Given the description of an element on the screen output the (x, y) to click on. 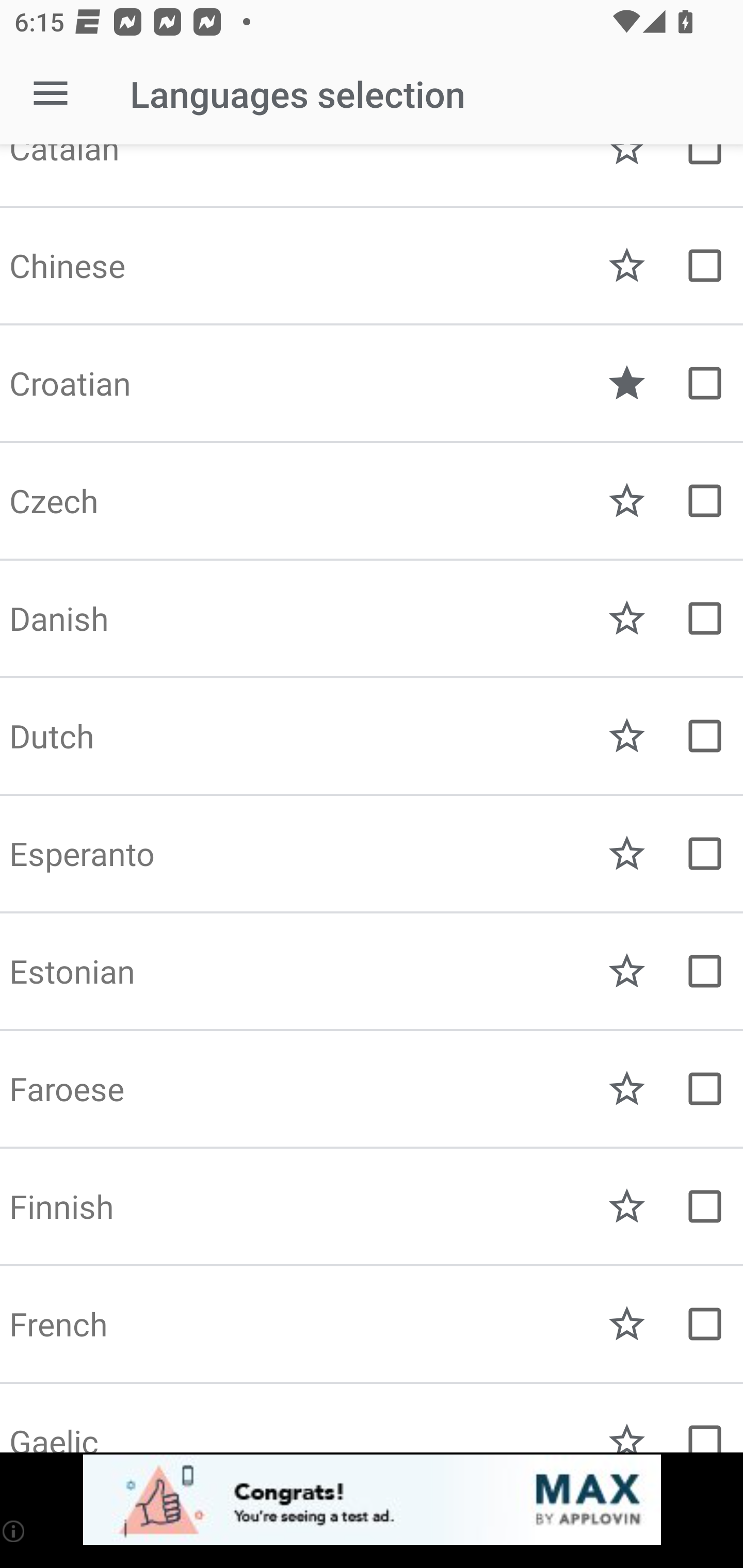
Open navigation sidebar (50, 93)
Chinese Favorite (371, 265)
Favorite (626, 265)
Croatian UnFavorite (371, 383)
UnFavorite (626, 383)
Czech Favorite (371, 500)
Favorite (626, 500)
Danish Favorite (371, 618)
Favorite (626, 618)
Dutch Favorite (371, 735)
Favorite (626, 736)
Esperanto Favorite (371, 853)
Favorite (626, 853)
Estonian Favorite (371, 971)
Favorite (626, 971)
Faroese Favorite (371, 1088)
Favorite (626, 1088)
Finnish Favorite (371, 1206)
Favorite (626, 1206)
French Favorite (371, 1323)
Favorite (626, 1324)
app-monetization (371, 1500)
(i) (14, 1531)
